Given the description of an element on the screen output the (x, y) to click on. 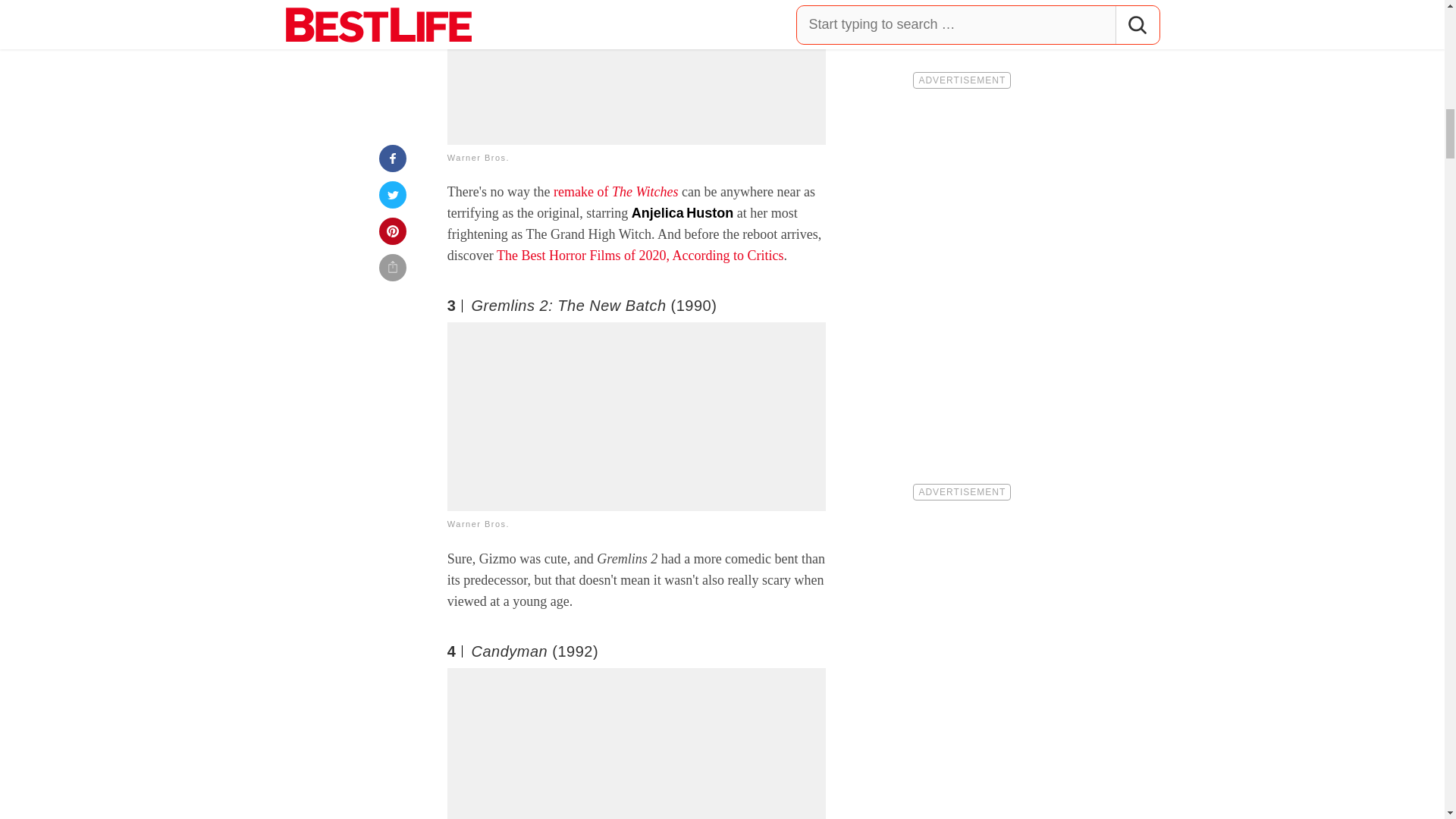
remake of The Witches (615, 191)
The Best Horror Films of 2020, According to Critics (639, 255)
